Given the description of an element on the screen output the (x, y) to click on. 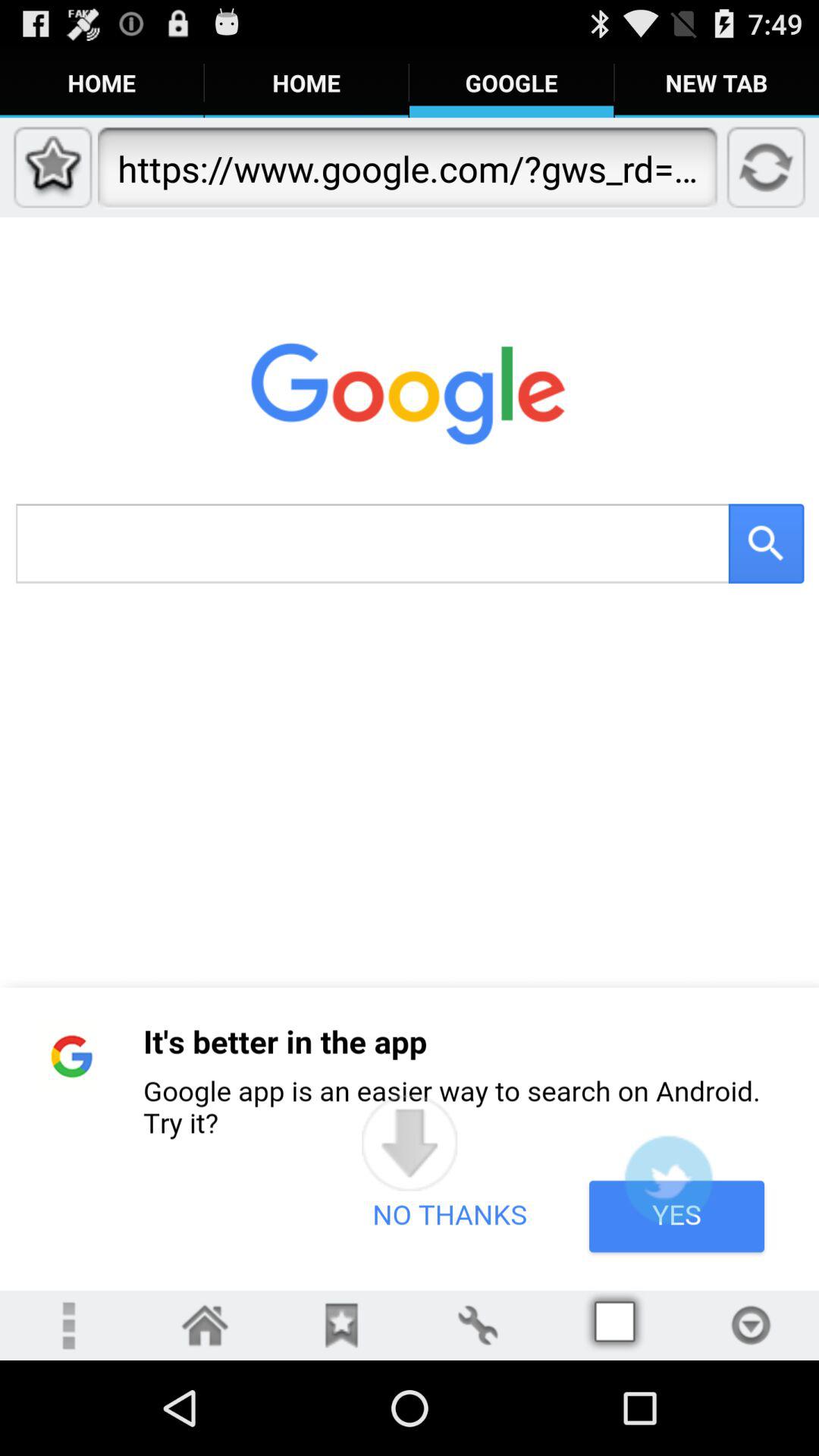
painater (477, 1325)
